Given the description of an element on the screen output the (x, y) to click on. 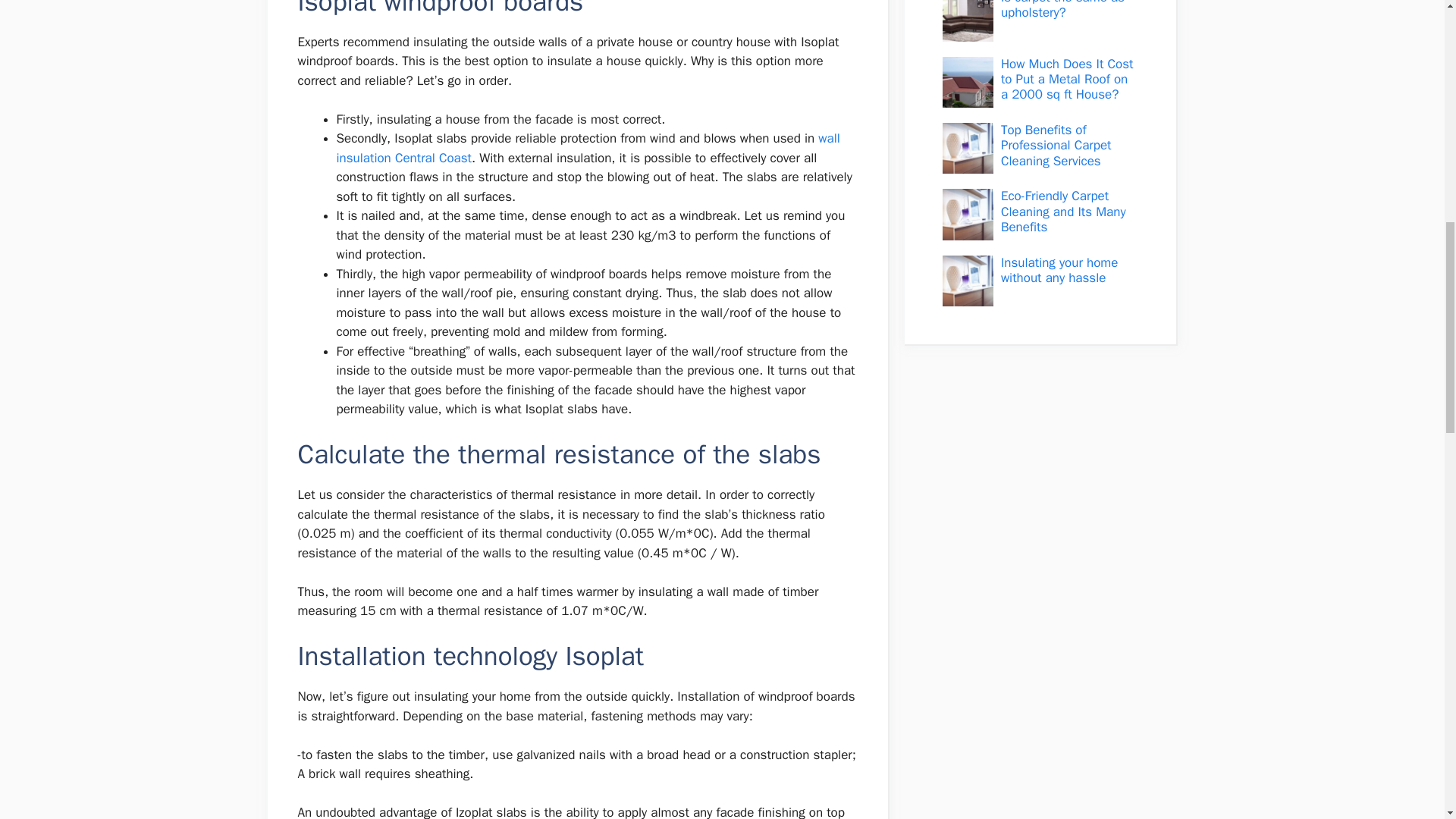
Is carpet the same as upholstery? (1062, 10)
Eco-Friendly Carpet Cleaning and Its Many Benefits (1063, 211)
wall insulation Central Coast (588, 148)
Insulating your home without any hassle (1059, 269)
Top Benefits of Professional Carpet Cleaning Services (1056, 145)
